Given the description of an element on the screen output the (x, y) to click on. 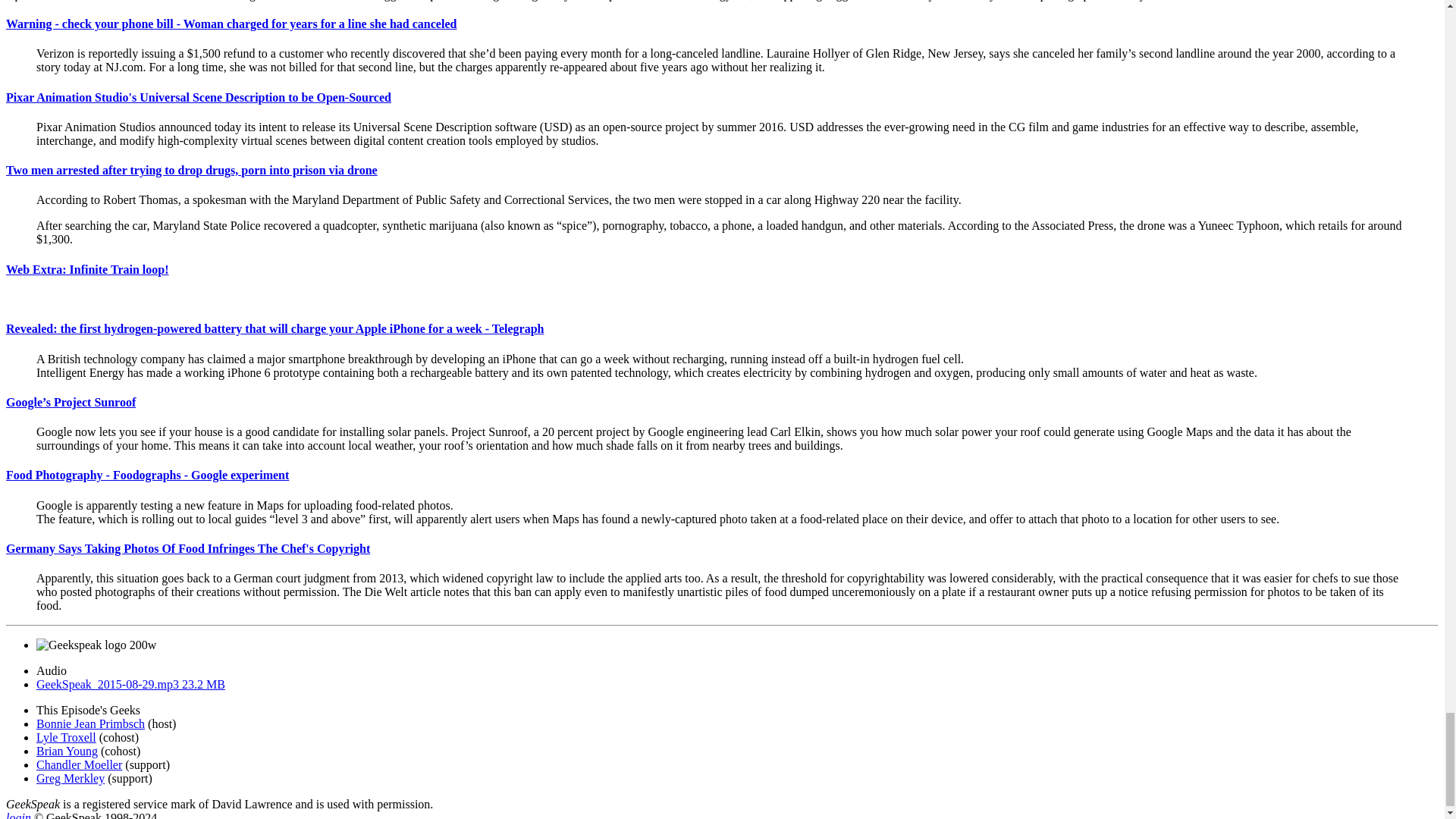
Chandler Moeller (79, 764)
Bonnie Jean Primbsch (90, 723)
Lyle Troxell (66, 737)
Food Photography - Foodographs - Google experiment (146, 474)
Greg Merkley (70, 778)
Brian Young (66, 750)
